Given the description of an element on the screen output the (x, y) to click on. 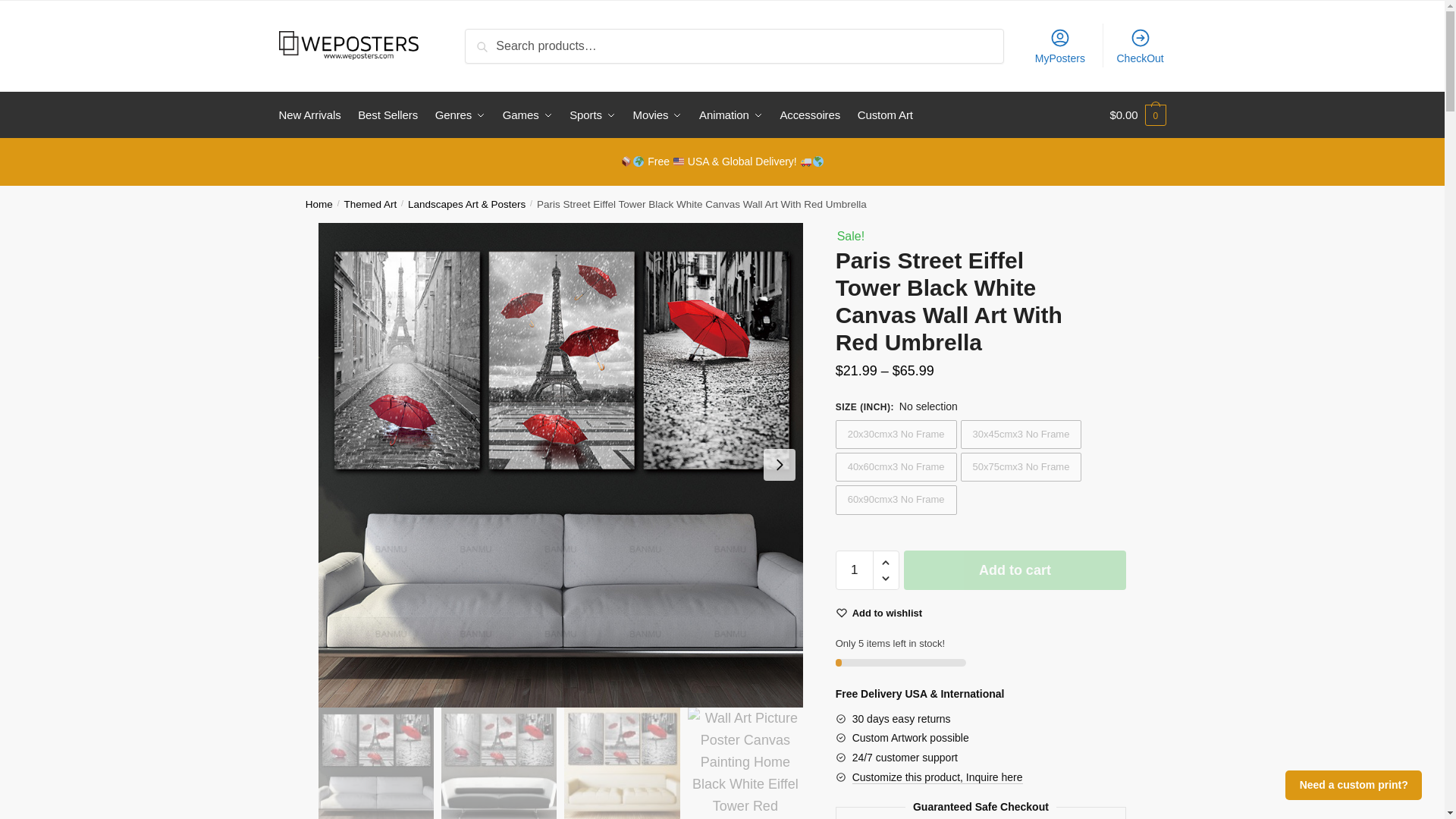
Best Sellers (387, 115)
View your shopping cart (1137, 115)
Search (492, 41)
Genres (460, 115)
MyPosters (1060, 45)
1 (854, 569)
New Arrivals (313, 115)
CheckOut (1139, 45)
